Given the description of an element on the screen output the (x, y) to click on. 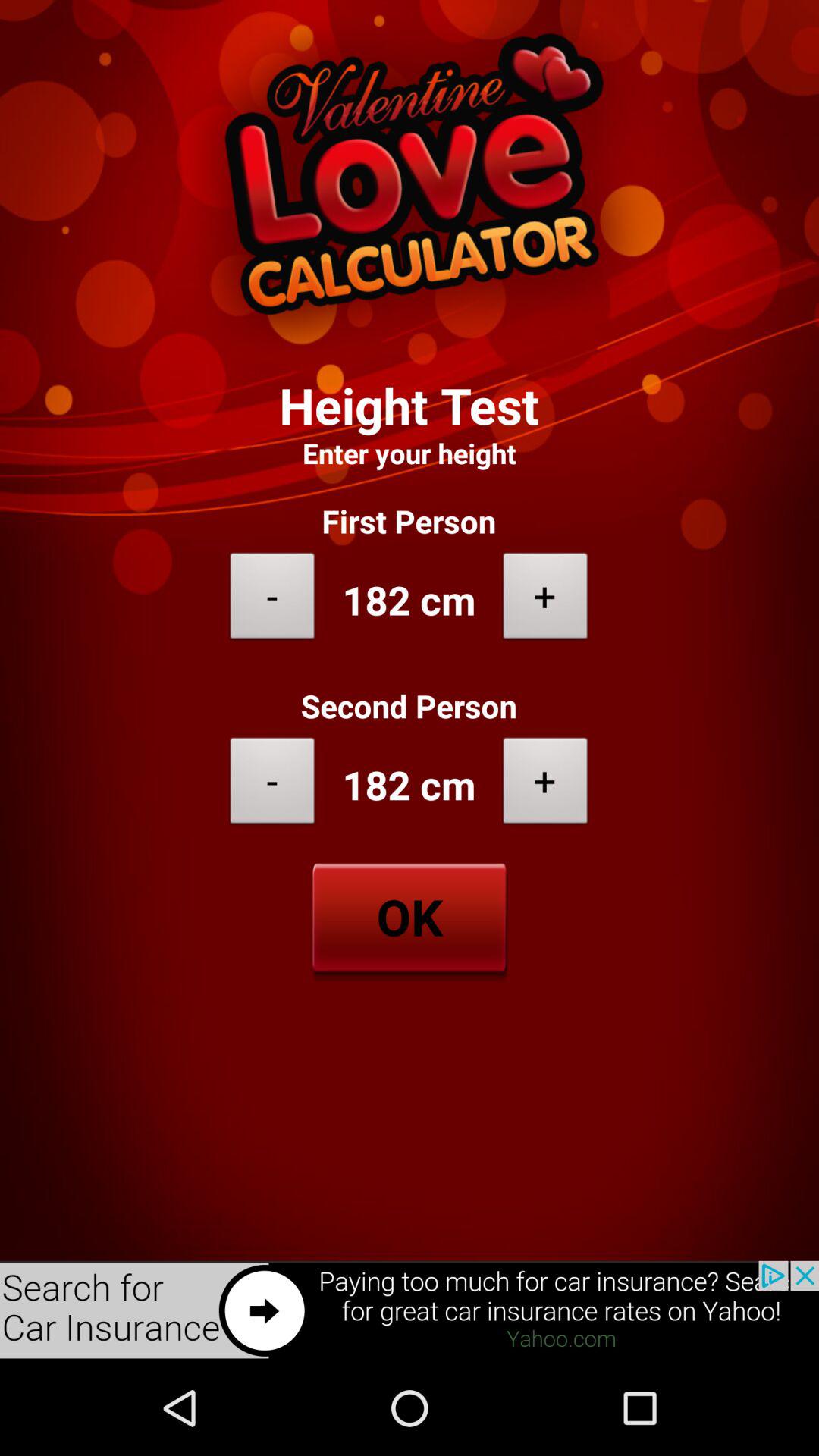
advertisement page (409, 1310)
